Given the description of an element on the screen output the (x, y) to click on. 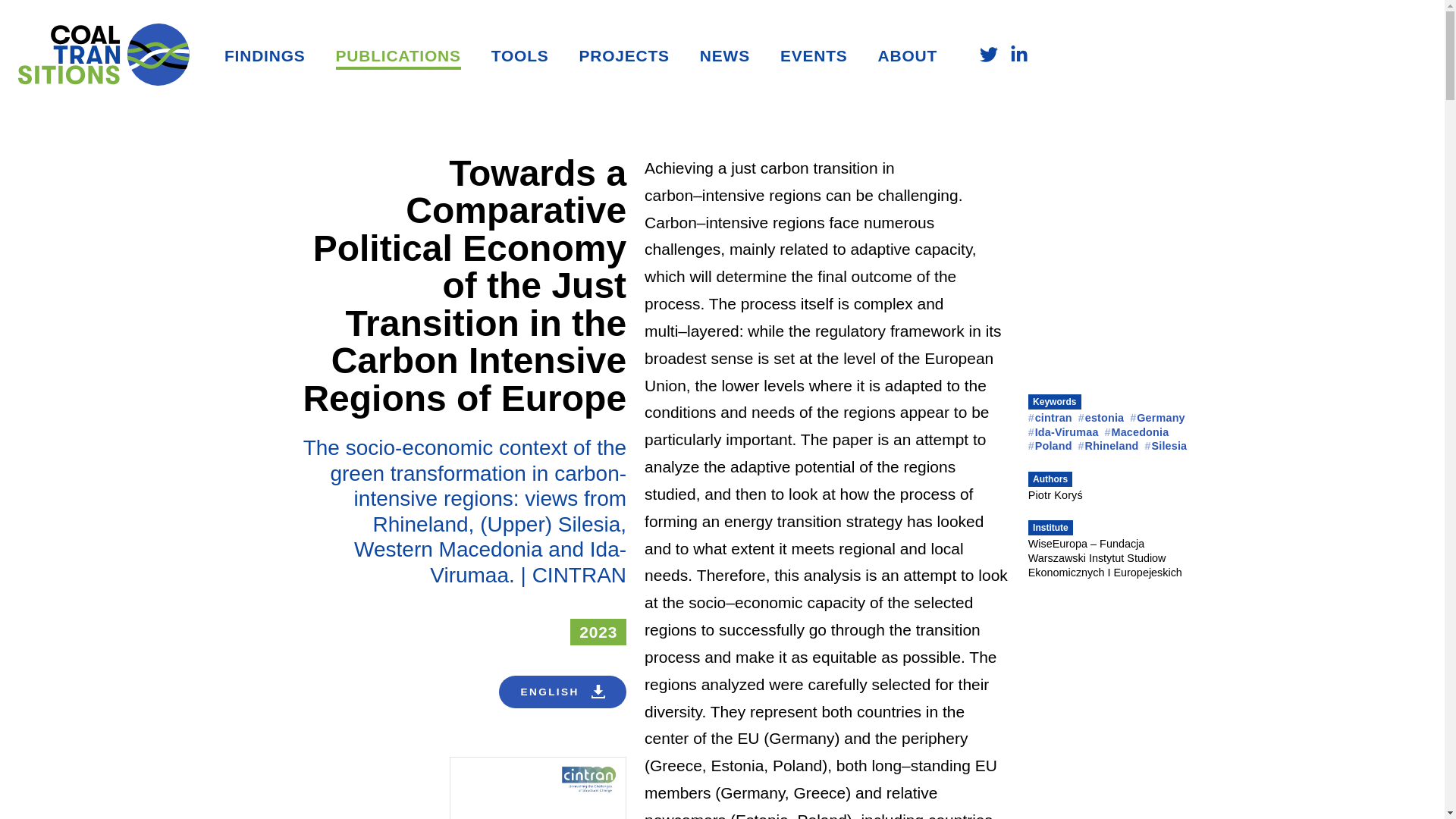
ENGLISH (562, 691)
PUBLICATIONS (398, 56)
Poland (1049, 445)
Germany (1157, 417)
cintran (1049, 417)
Macedonia (1137, 431)
Silesia (1166, 445)
NEWS (724, 56)
FINDINGS (264, 56)
EVENTS (813, 56)
